Given the description of an element on the screen output the (x, y) to click on. 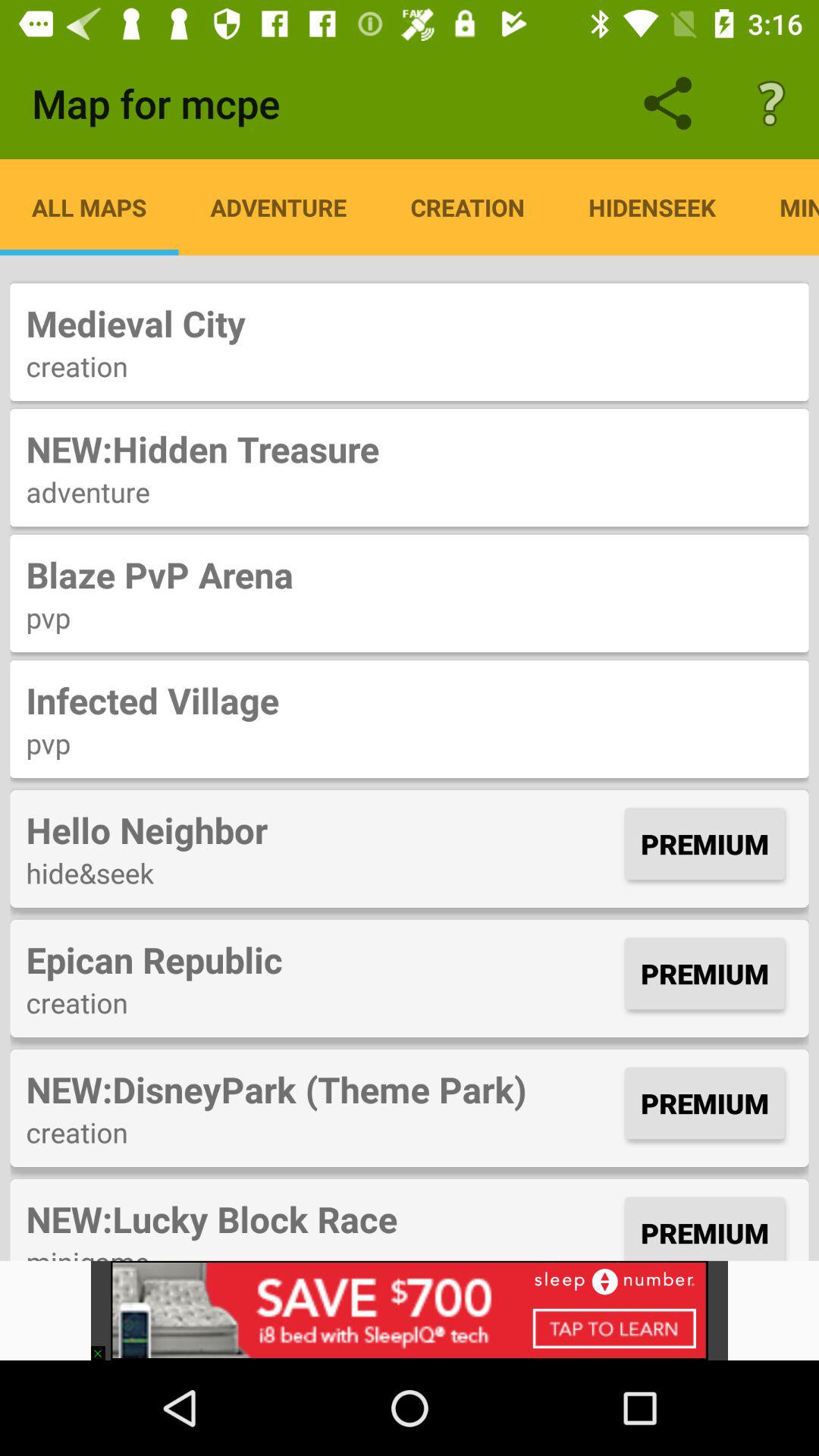
select hello neighbor (321, 829)
